Given the description of an element on the screen output the (x, y) to click on. 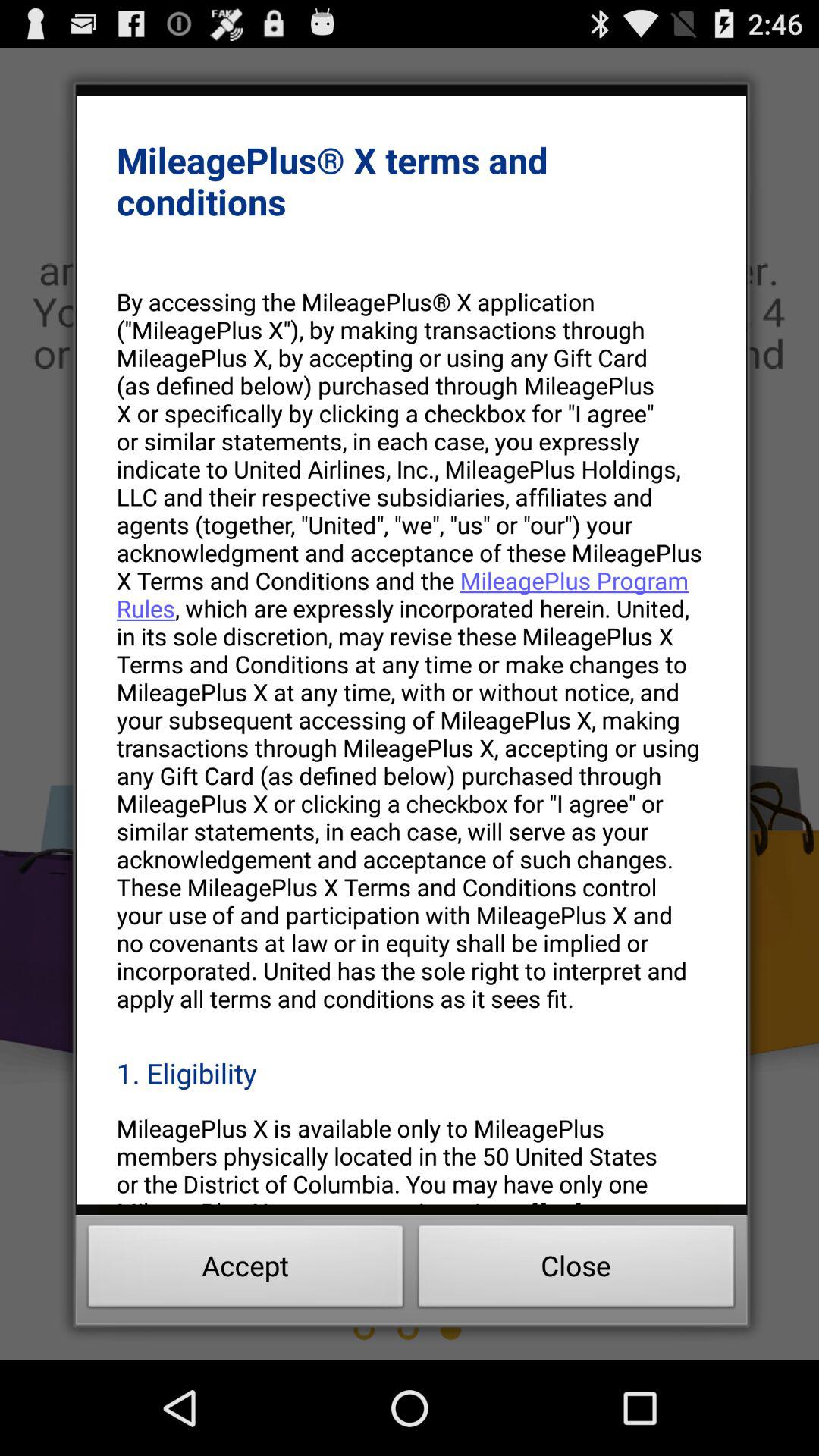
launch the item below the mileageplus x terms (411, 649)
